Given the description of an element on the screen output the (x, y) to click on. 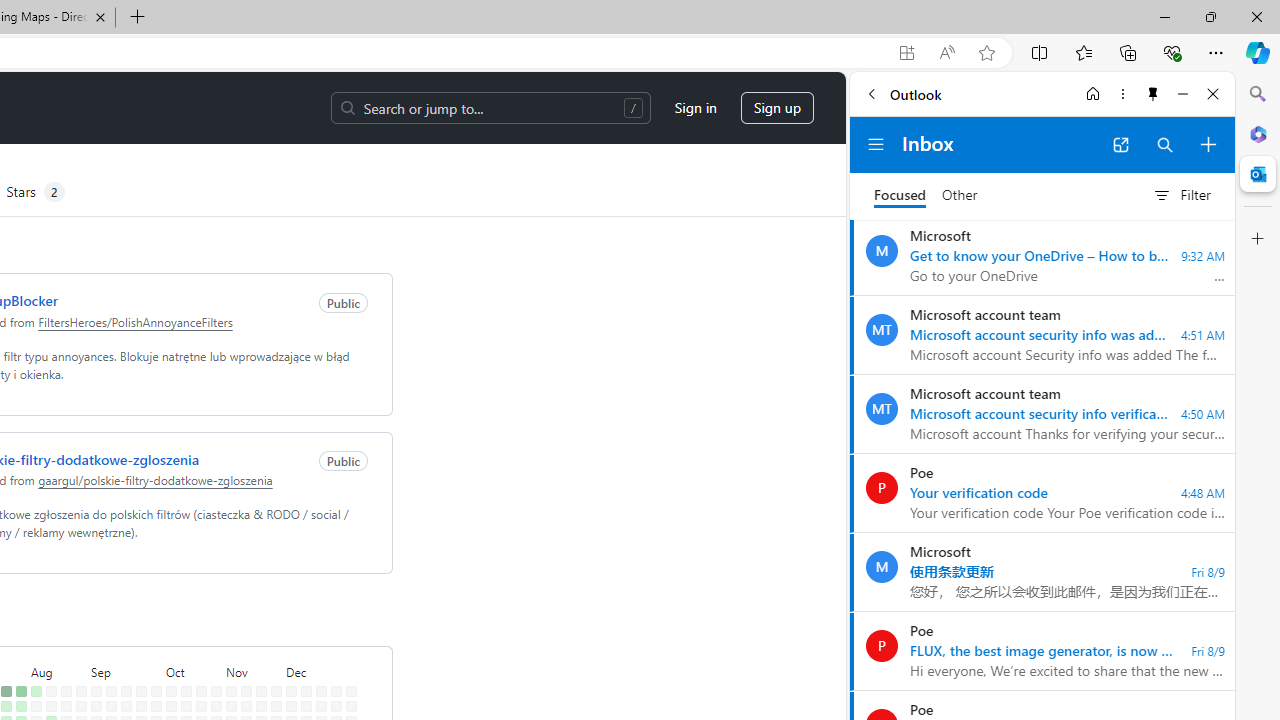
Resources (63, 121)
Search (1258, 94)
Favorites (1083, 52)
Add this page to favorites (Ctrl+D) (986, 53)
Open in new tab (1120, 144)
Read aloud this page (Ctrl+Shift+U) (906, 53)
Focused (900, 195)
Resources (63, 121)
